Given the description of an element on the screen output the (x, y) to click on. 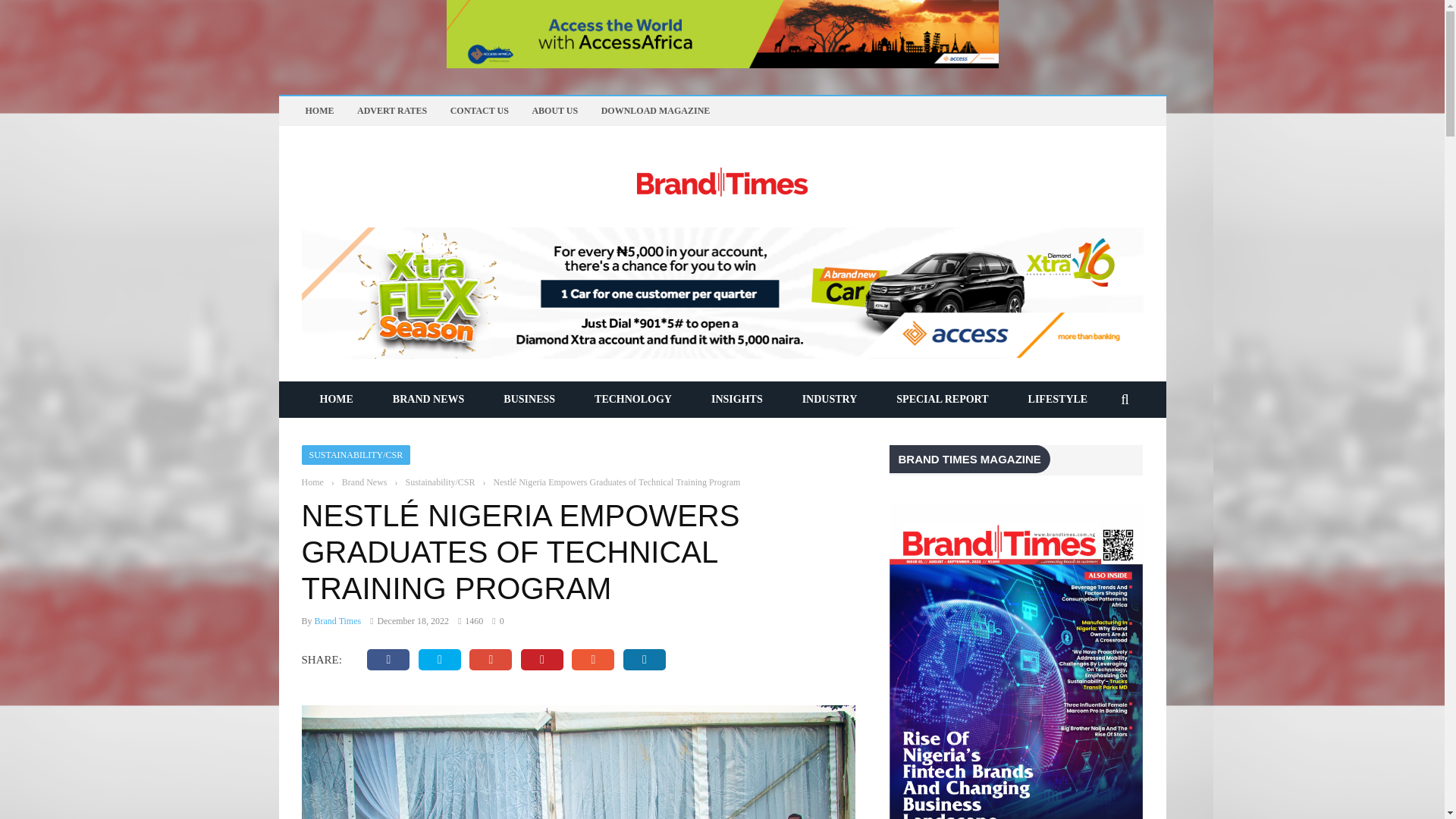
CONTACT US (478, 110)
BUSINESS (528, 398)
DOWNLOAD MAGAZINE (655, 110)
ADVERT RATES (391, 110)
HOME (336, 398)
BRAND NEWS (428, 398)
ABOUT US (554, 110)
HOME (318, 110)
